Given the description of an element on the screen output the (x, y) to click on. 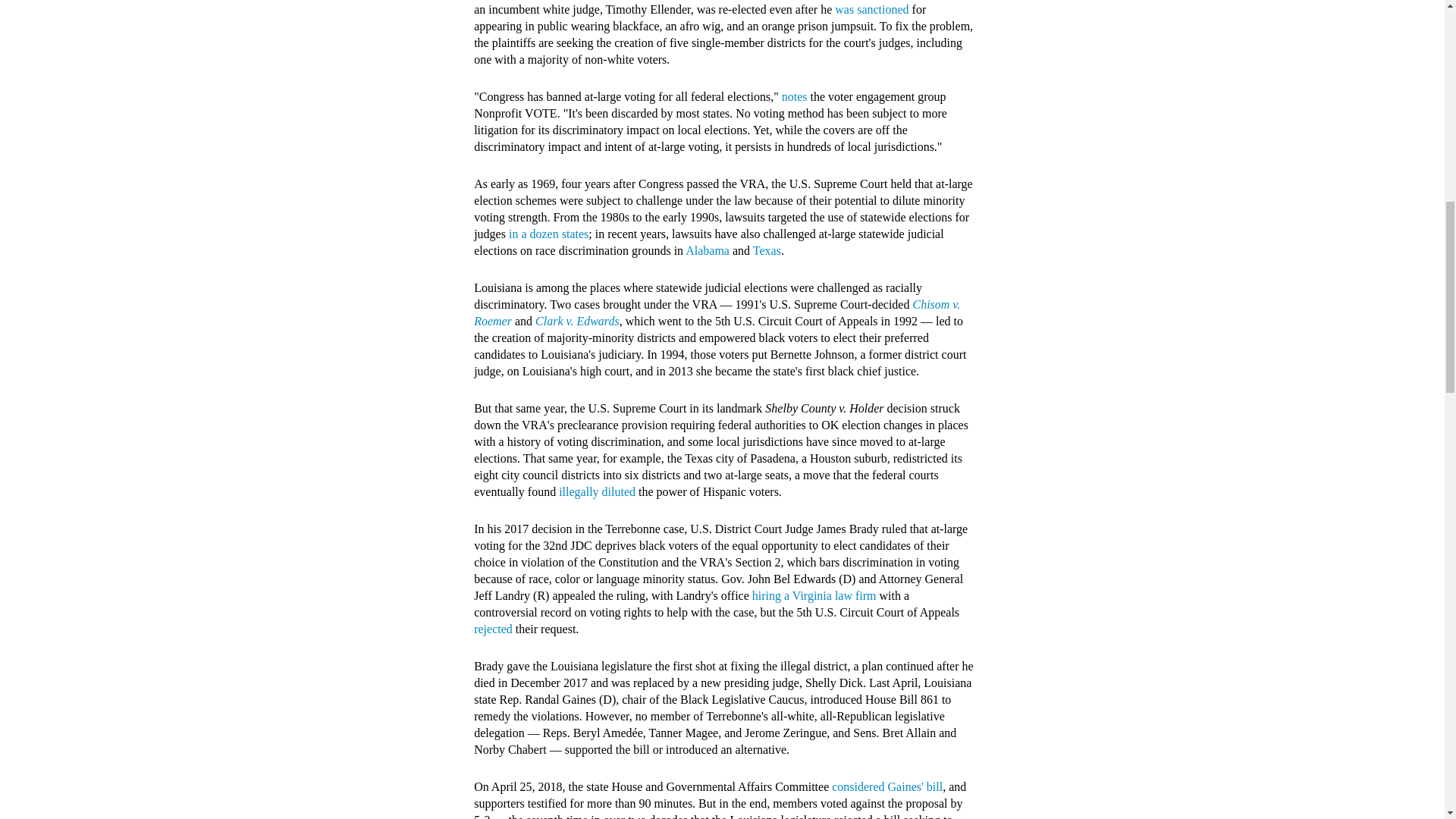
Chisom v. Roemer (716, 312)
considered Gaines' bill (886, 786)
Clark v. Edwards (577, 320)
Alabama (707, 250)
Texas (766, 250)
illegally diluted (596, 491)
was sanctioned (871, 9)
notes (794, 96)
in a dozen states (548, 233)
rejected (493, 628)
hiring a Virginia law firm (814, 594)
